Given the description of an element on the screen output the (x, y) to click on. 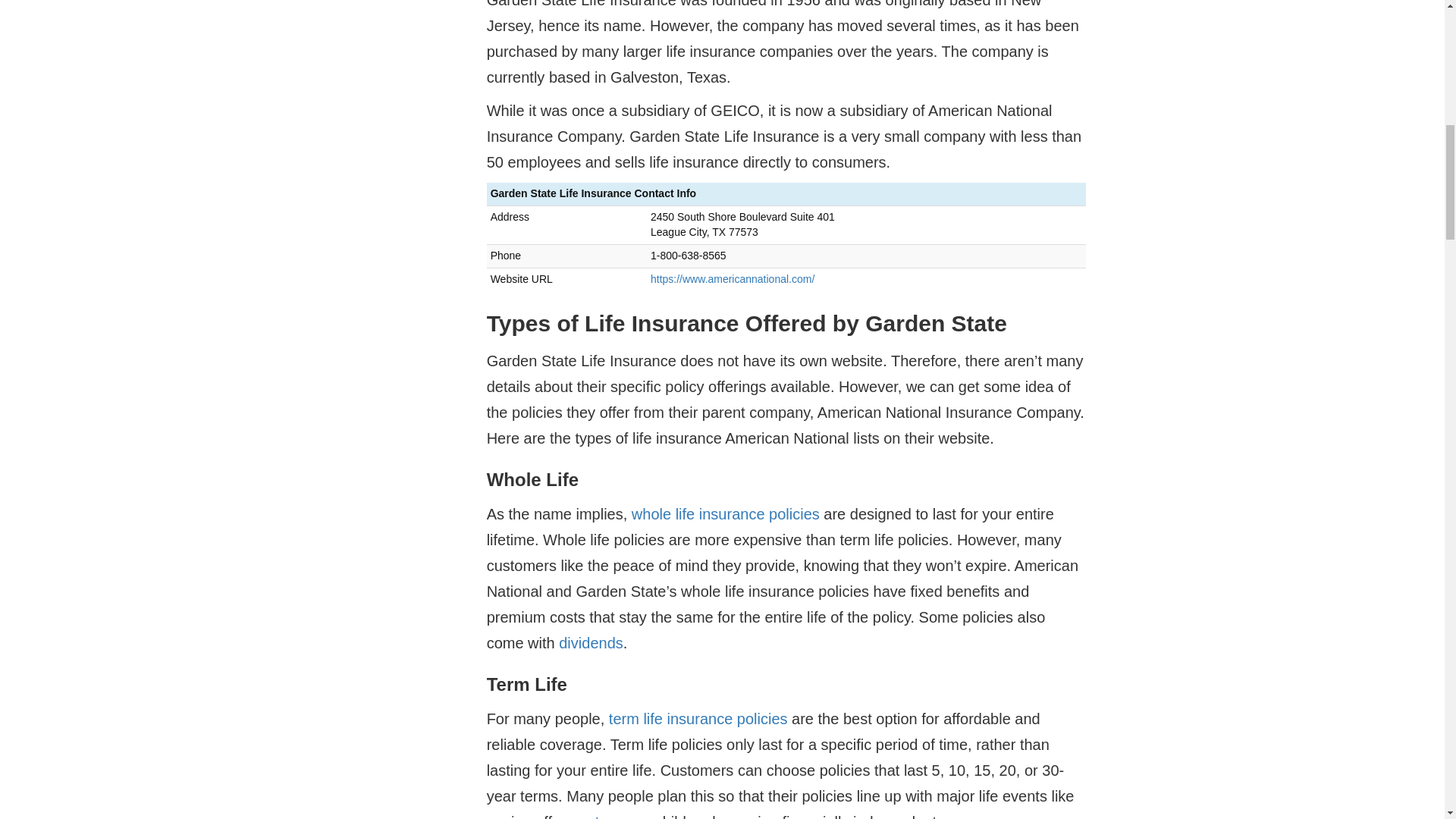
term life insurance policies (697, 718)
dividends (591, 642)
whole life insurance policies (725, 514)
mortgage (601, 816)
